Given the description of an element on the screen output the (x, y) to click on. 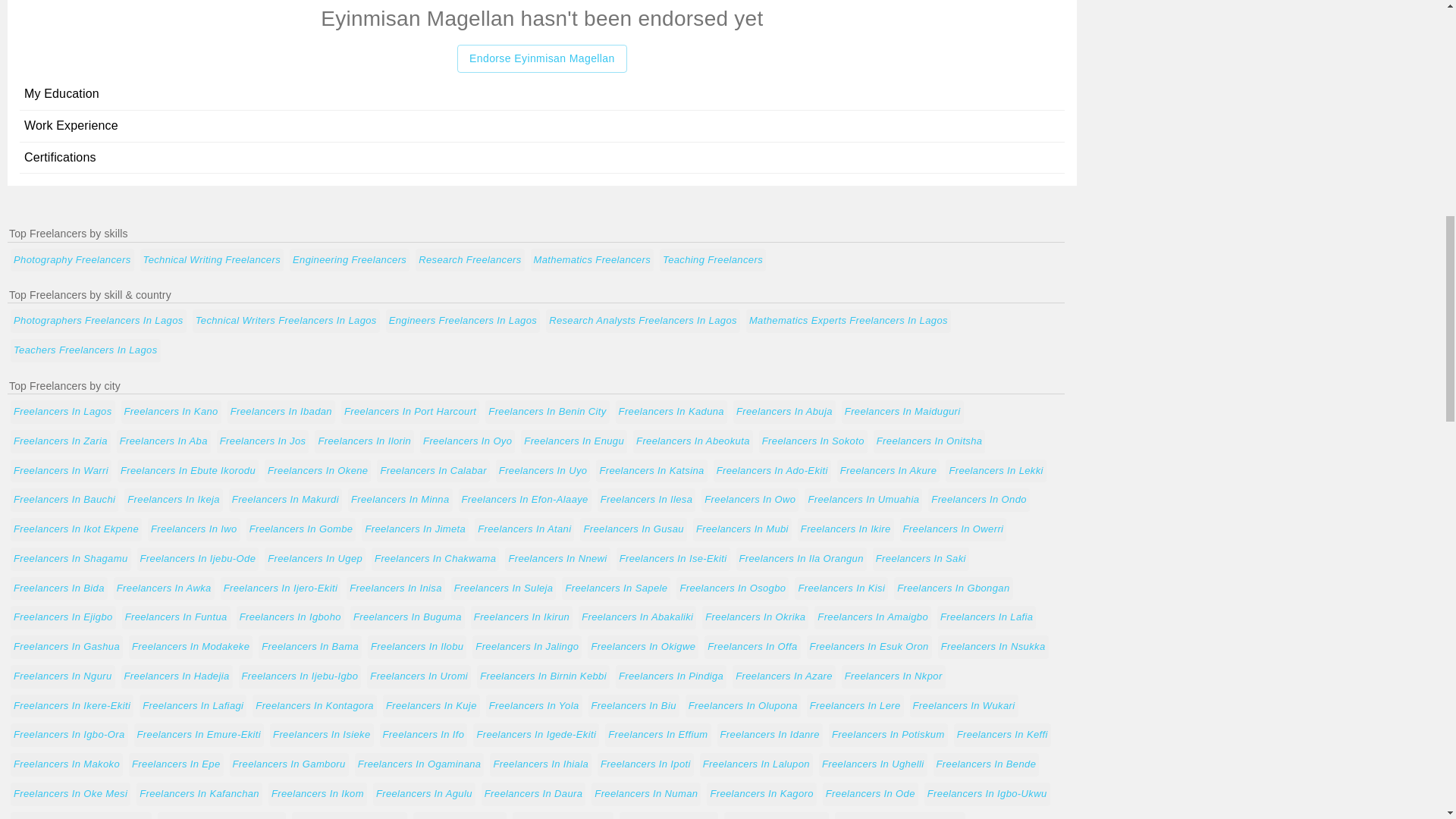
Technical Writing Freelancers (211, 259)
Photography Freelancers (71, 259)
Endorse Eyinmisan Magellan (542, 58)
